Given the description of an element on the screen output the (x, y) to click on. 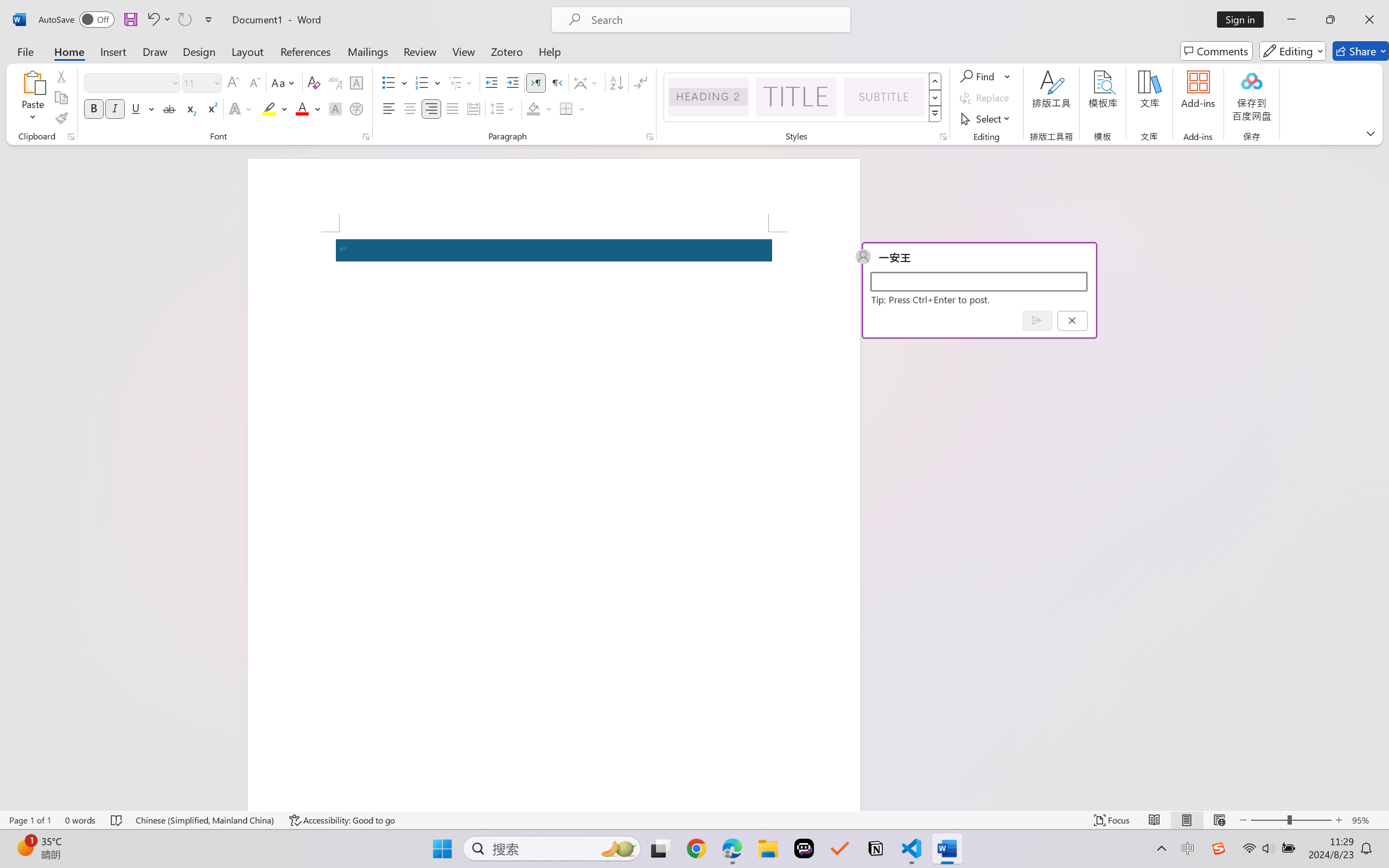
Text Highlight Color RGB(255, 255, 0) (269, 108)
Shading No Color (533, 108)
